Given the description of an element on the screen output the (x, y) to click on. 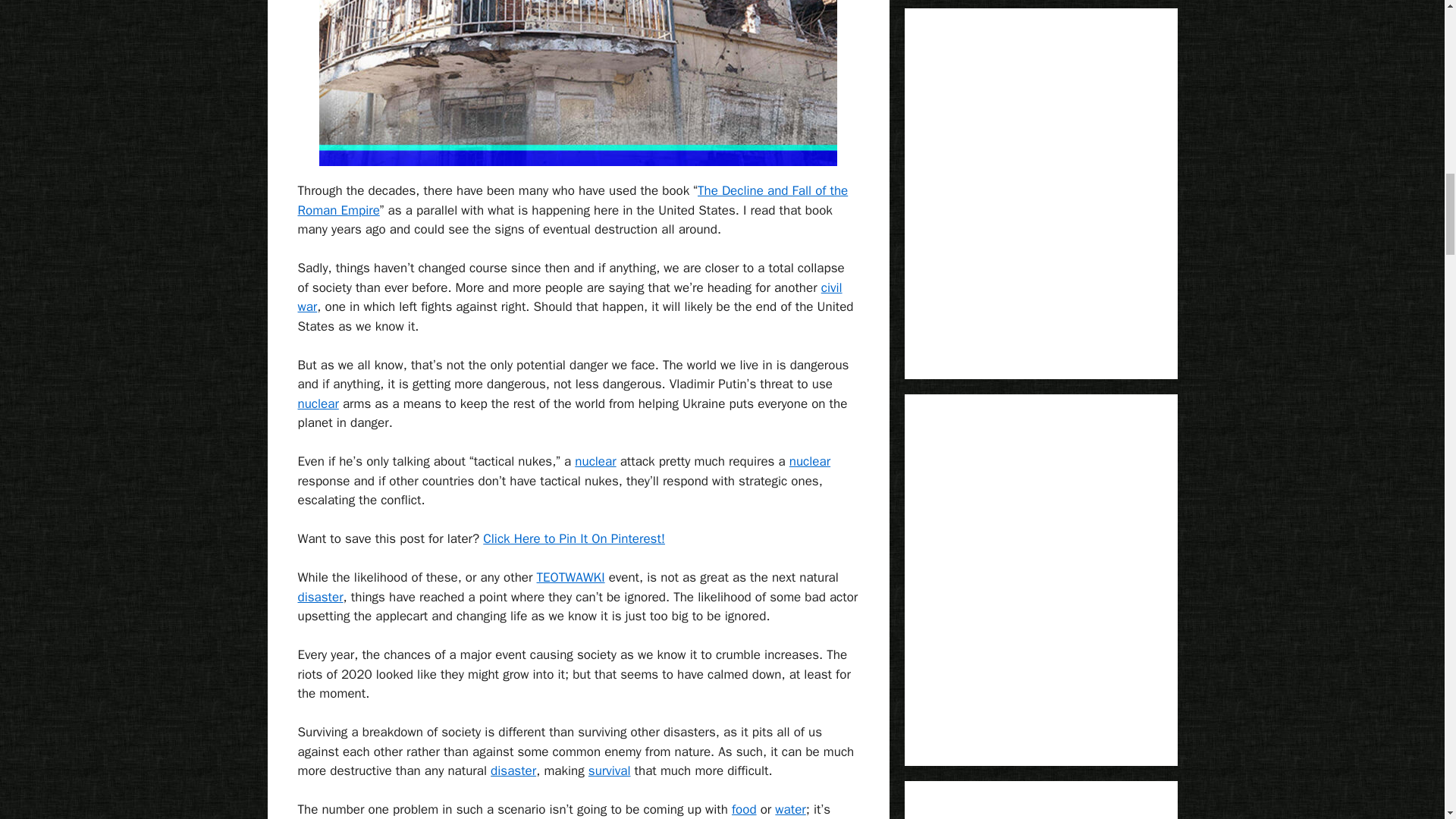
Alive After Crisis auto (319, 596)
Easy Cellar auto 2 (317, 403)
Alive After Crisis auto (512, 770)
Easy Cellar auto 2 (595, 461)
Easy Cellar auto 2 (809, 461)
